Given the description of an element on the screen output the (x, y) to click on. 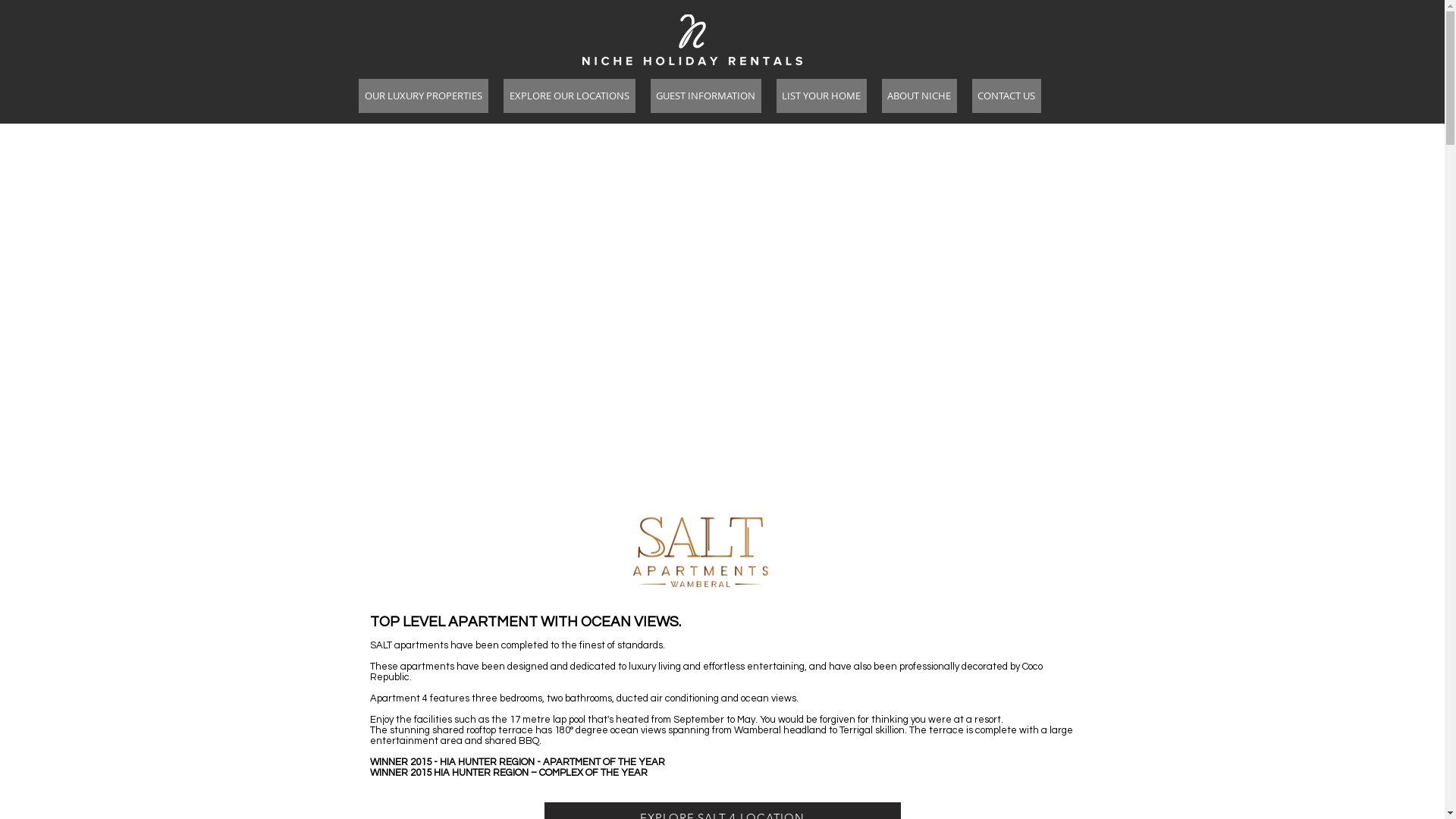
HOME PAGE Element type: hover (692, 40)
EXPLORE OUR LOCATIONS Element type: text (569, 95)
GUEST INFORMATION Element type: text (705, 95)
CONTACT US Element type: text (1006, 95)
ABOUT NICHE Element type: text (918, 95)
LIST YOUR HOME Element type: text (821, 95)
